Given the description of an element on the screen output the (x, y) to click on. 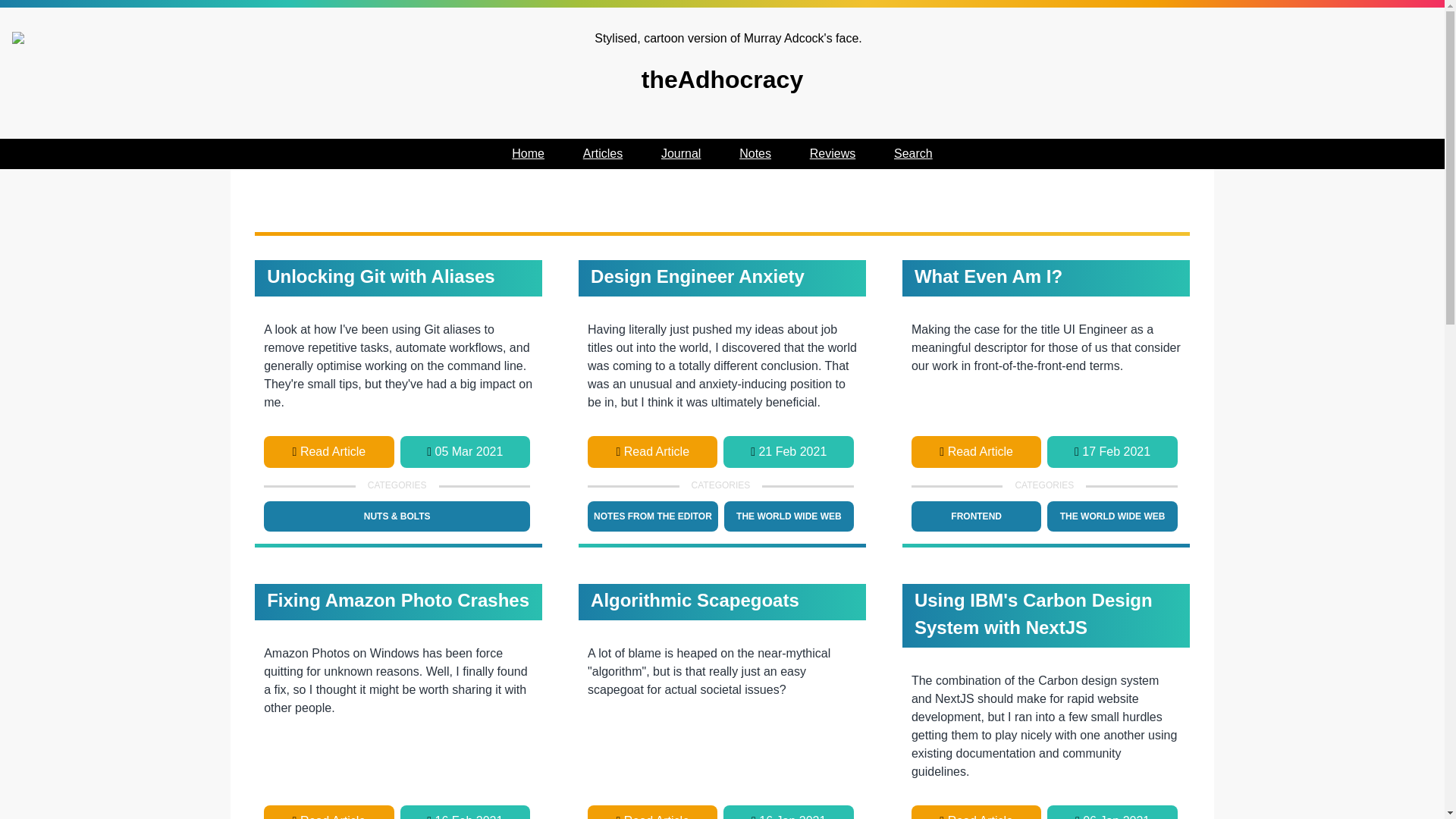
NOTES FROM THE EDITOR (652, 516)
Home (528, 153)
theAdhocracy (721, 64)
Notes (755, 153)
Reviews (832, 153)
FRONTEND (976, 516)
Search (913, 153)
